Given the description of an element on the screen output the (x, y) to click on. 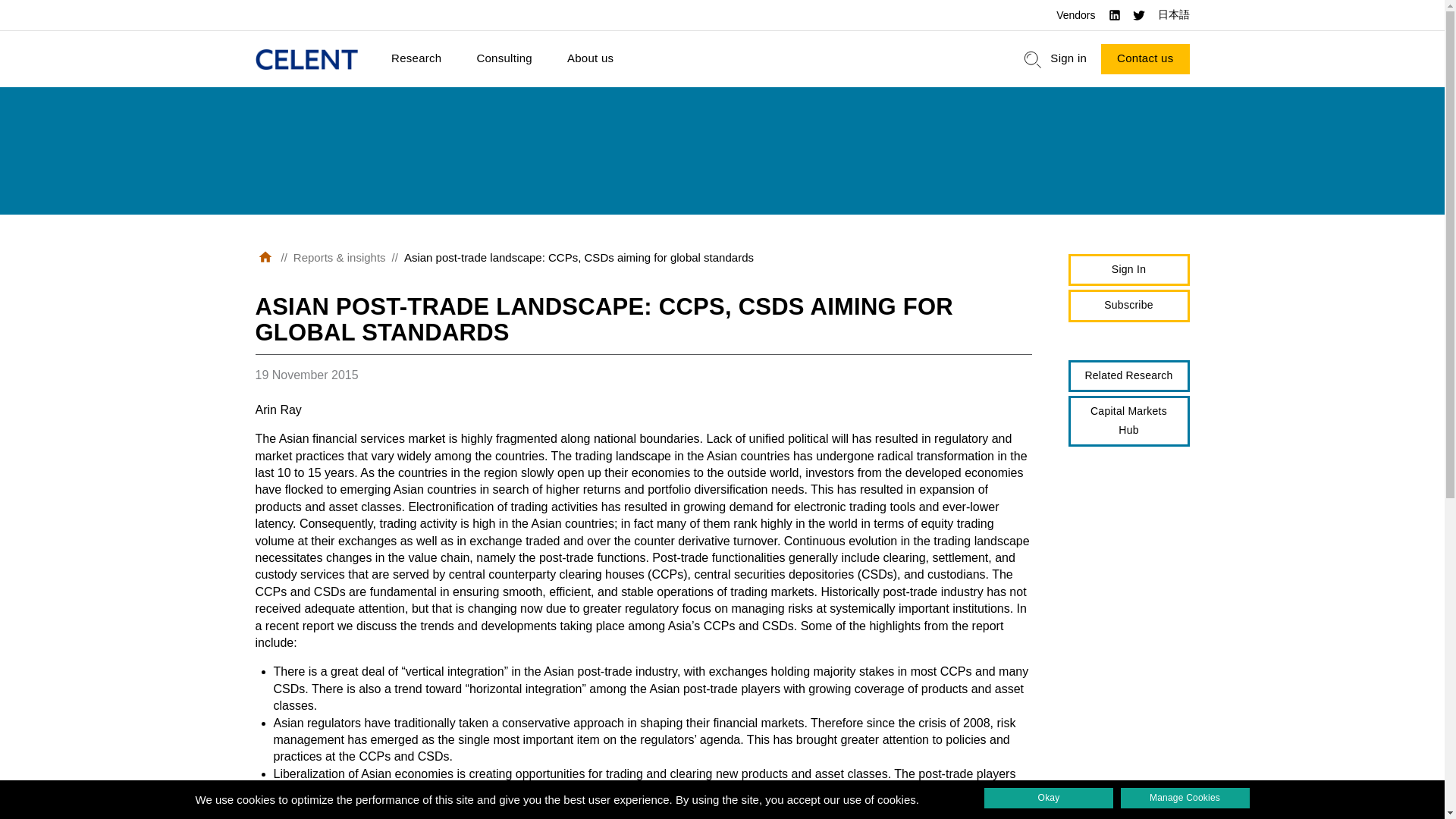
Home (306, 59)
Okay (1048, 797)
About us (590, 59)
Research (415, 59)
search (1032, 58)
Vendors (1075, 15)
Manage Cookies (1185, 797)
Sign in (1068, 59)
Contact us (1144, 59)
Consulting (503, 59)
